Given the description of an element on the screen output the (x, y) to click on. 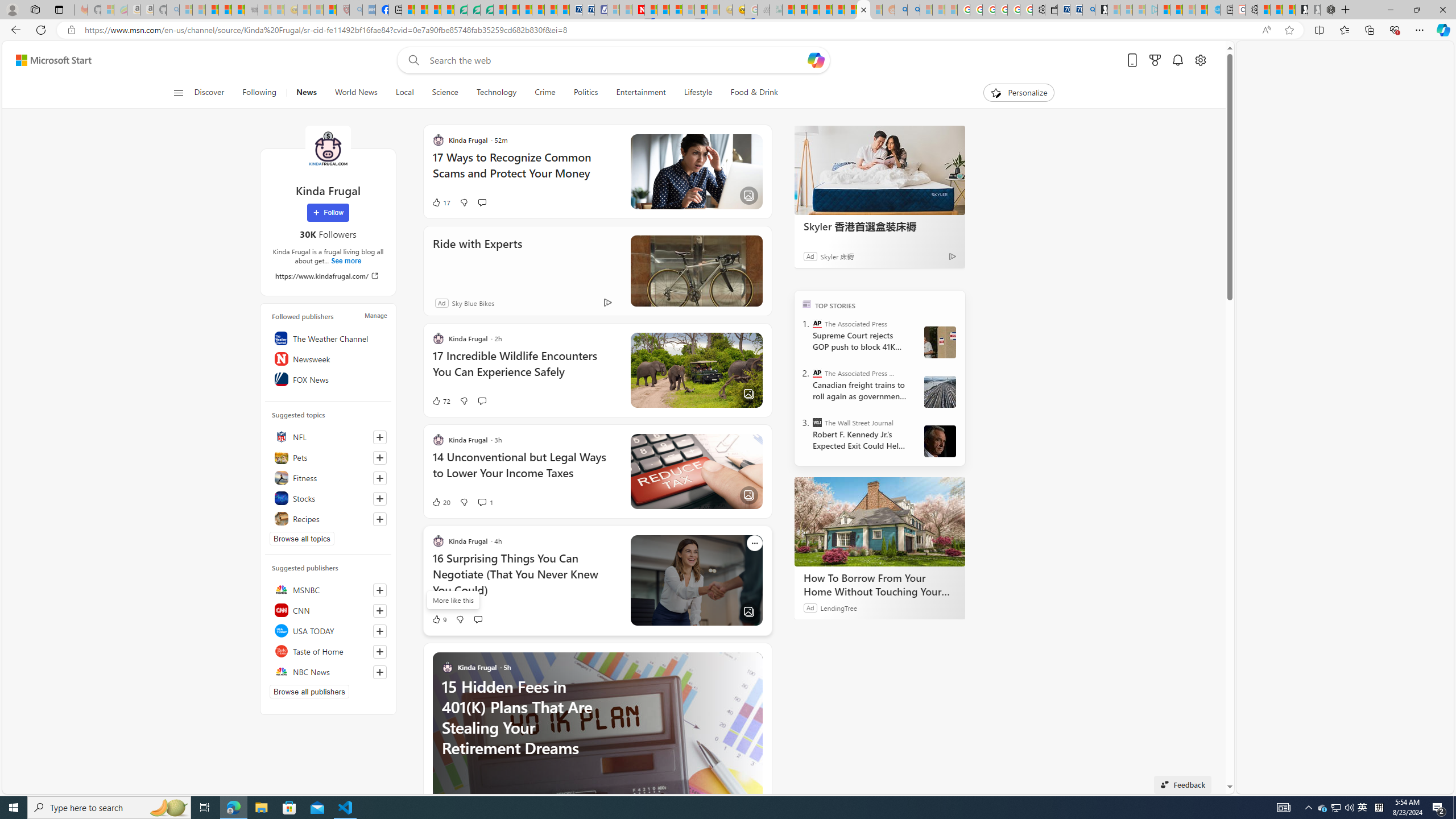
Cheap Hotels - Save70.com (587, 9)
Crime (545, 92)
Discover (208, 92)
Science (444, 92)
DITOGAMES AG Imprint - Sleeping (775, 9)
Start the conversation (477, 619)
Following (259, 92)
The Associated Press - Business News (816, 372)
